Given the description of an element on the screen output the (x, y) to click on. 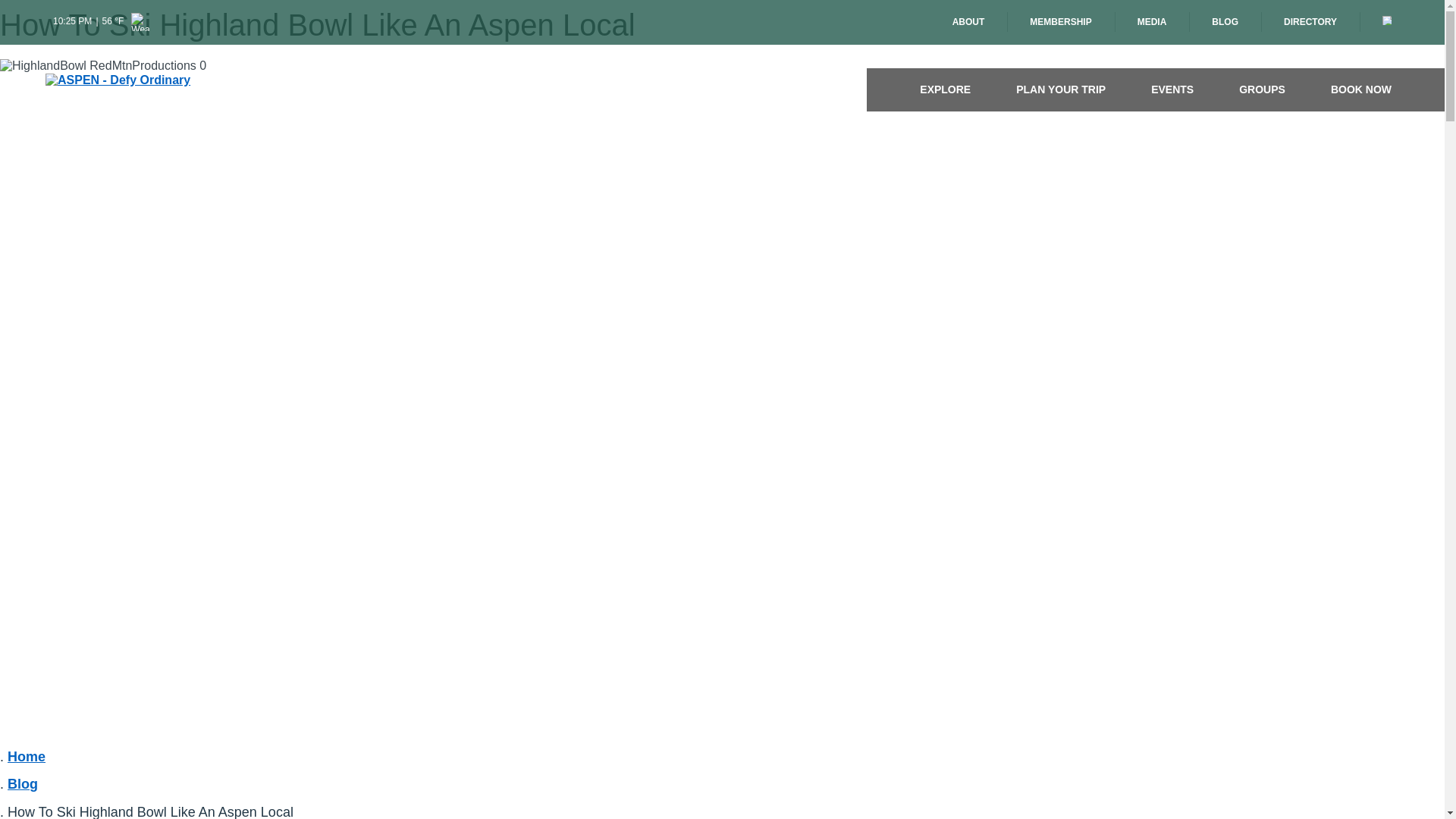
DIRECTORY (1310, 22)
PLAN YOUR TRIP (1060, 89)
MEDIA (1152, 22)
SEARCH (1386, 20)
ABOUT (968, 22)
BLOG (1225, 22)
EXPLORE (944, 89)
GROUPS (1261, 89)
MEMBERSHIP (1059, 22)
EVENTS (1171, 89)
